Given the description of an element on the screen output the (x, y) to click on. 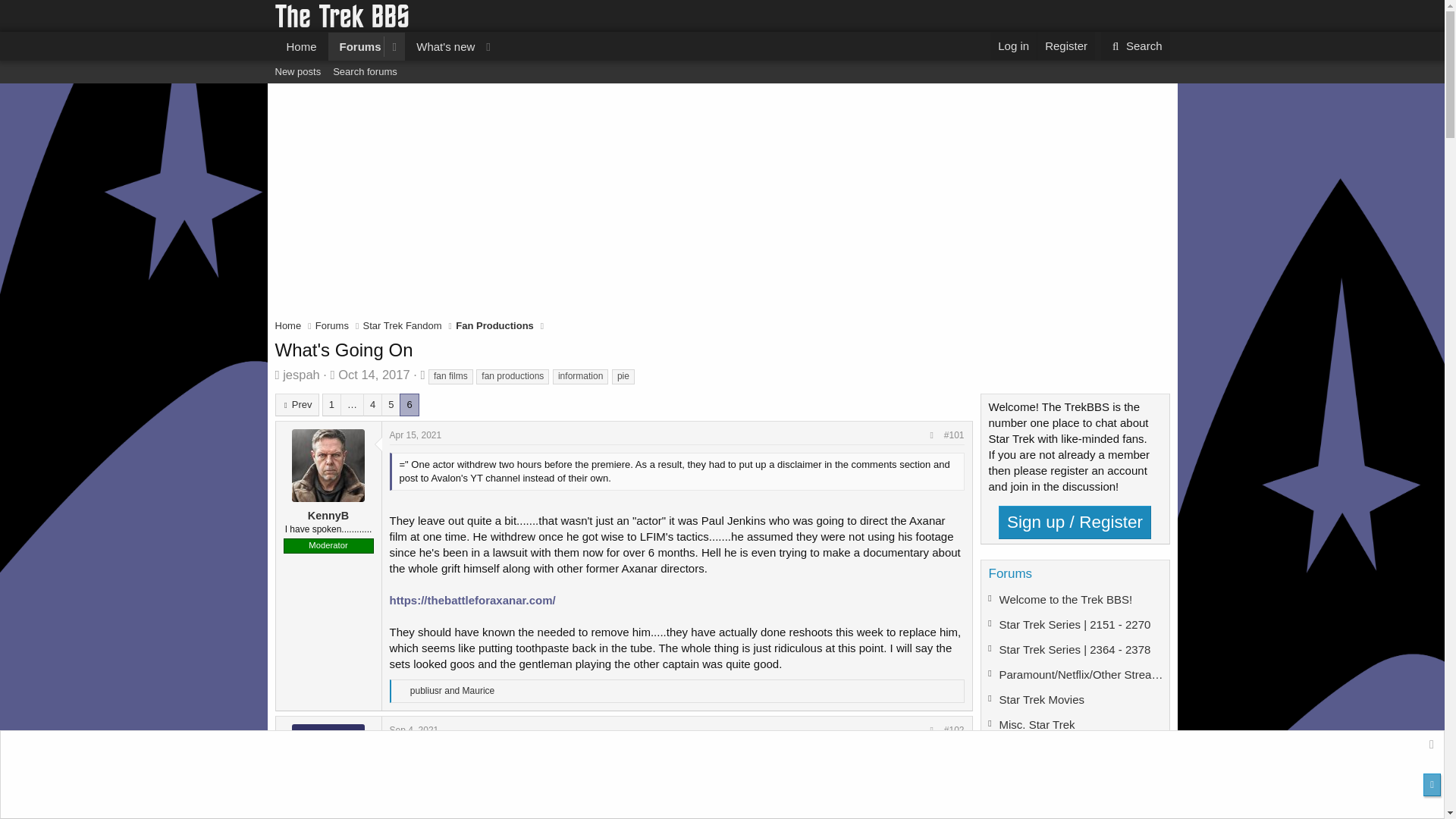
Search forums (364, 71)
Prev (296, 404)
Oct 14, 2017 at 6:01 PM (373, 374)
jespah (386, 46)
fan productions (301, 374)
Forums (720, 88)
Apr 15, 2021 at 7:14 AM (512, 376)
What's new (332, 325)
